Given the description of an element on the screen output the (x, y) to click on. 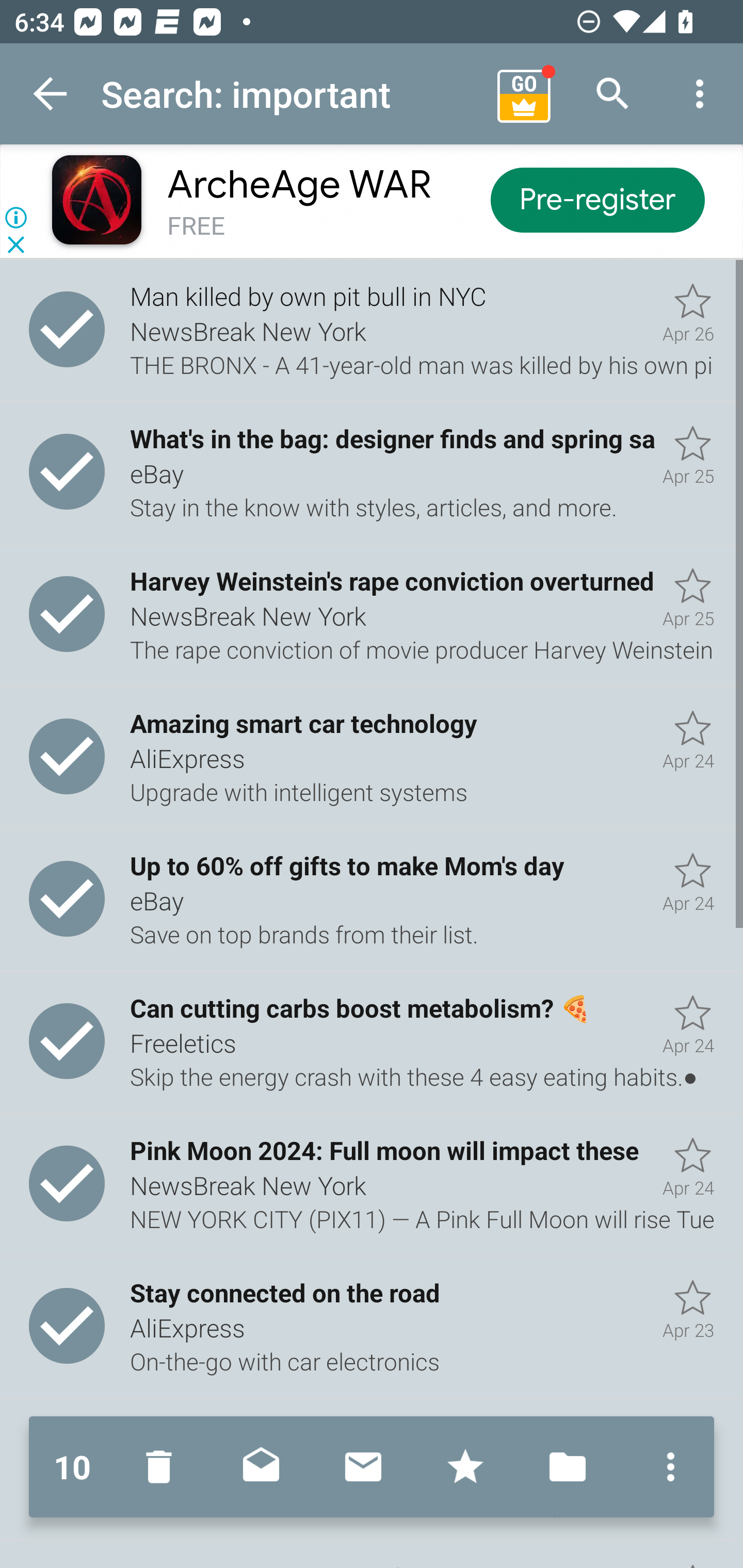
Navigate up (50, 93)
Search (612, 93)
More options (699, 93)
ArcheAge WAR (298, 184)
Pre-register (597, 199)
FREE (195, 225)
10 10 messages (71, 1466)
Move to Deleted (162, 1466)
Mark read (261, 1466)
Mark unread (363, 1466)
Mark with stars (465, 1466)
Move to folder… (567, 1466)
More options (666, 1466)
